Given the description of an element on the screen output the (x, y) to click on. 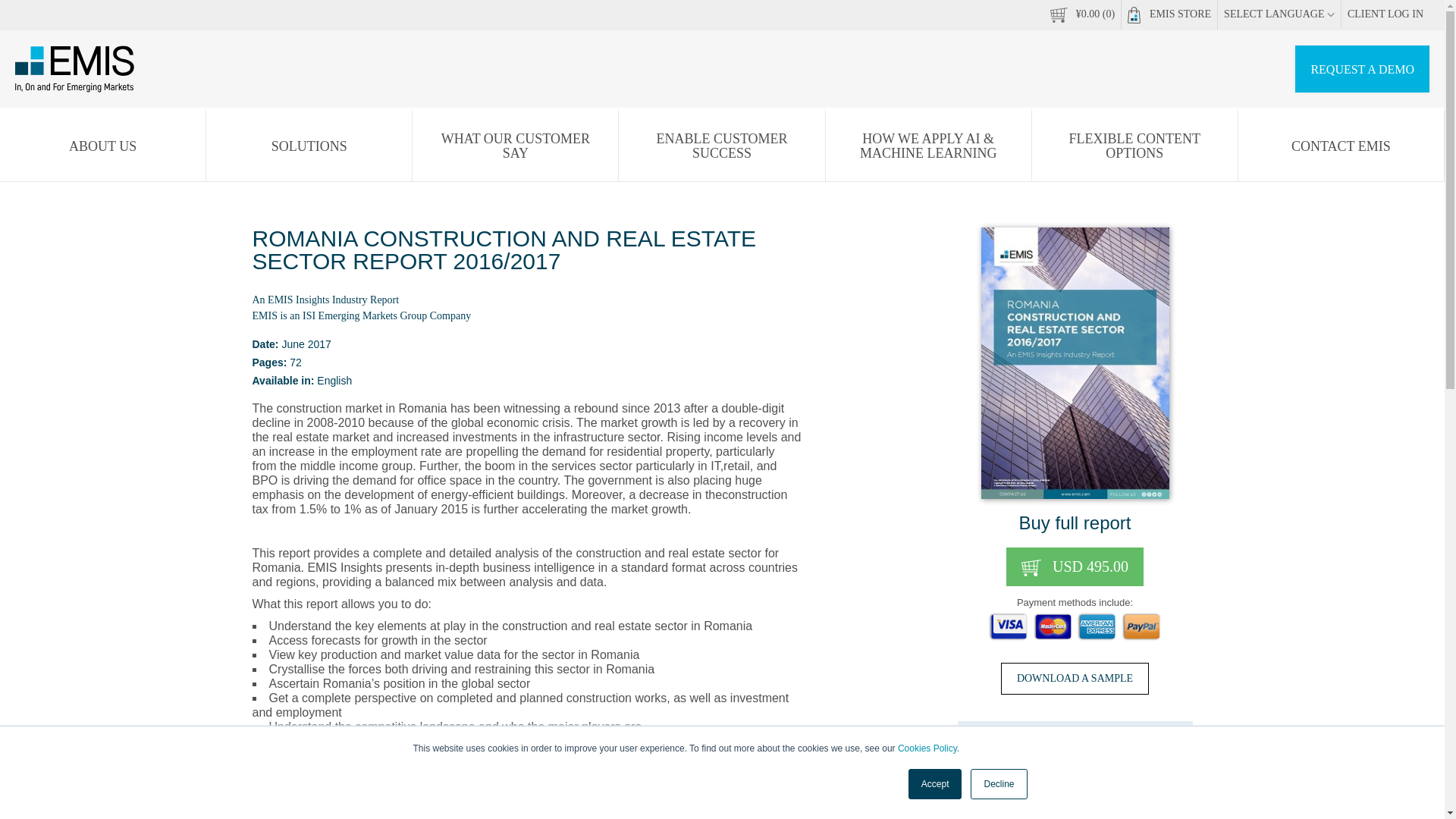
REQUEST A DEMO (1362, 68)
Enable Customer Success (721, 145)
SELECT LANGUAGE (1278, 13)
ENABLE CUSTOMER SUCCESS (721, 145)
Flexible Content Options (1134, 145)
SOLUTIONS (309, 145)
About us (102, 145)
Decline (998, 784)
USD 495.00 (1074, 566)
Contact EMIS (1341, 145)
